Given the description of an element on the screen output the (x, y) to click on. 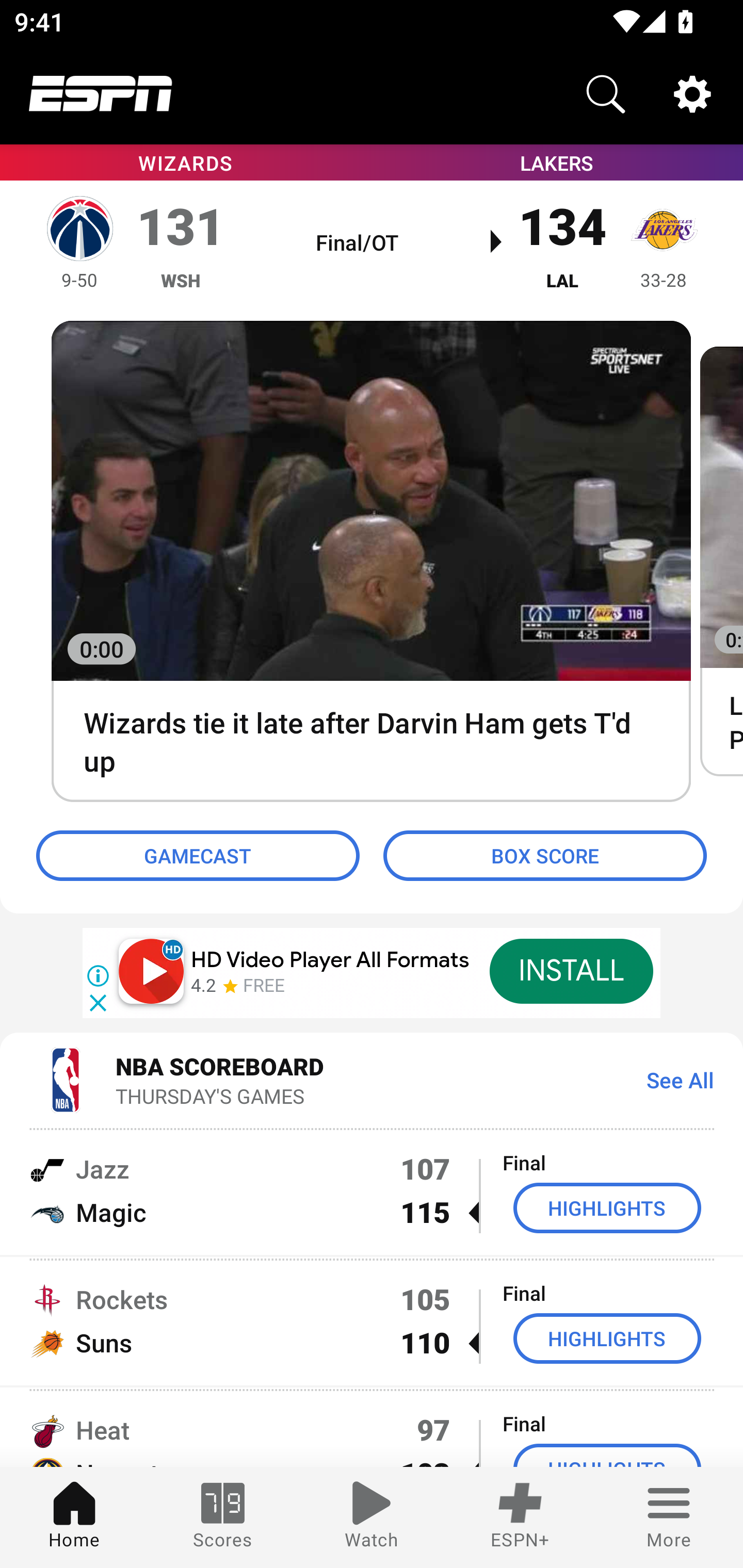
Search (605, 93)
Settings (692, 93)
GAMECAST (197, 856)
BOX SCORE (544, 856)
INSTALL (570, 971)
HD Video Player All Formats (330, 960)
NBA SCOREBOARD THURSDAY'S GAMES See All (371, 1079)
Jazz 107 Final Magic 115  HIGHLIGHTS (371, 1189)
HIGHLIGHTS (607, 1208)
Rockets 105 Final Suns 110  HIGHLIGHTS (371, 1321)
HIGHLIGHTS (607, 1338)
Heat 97 Final Nuggets 103  HIGHLIGHTS (371, 1427)
Scores (222, 1517)
Watch (371, 1517)
ESPN+ (519, 1517)
More (668, 1517)
